Given the description of an element on the screen output the (x, y) to click on. 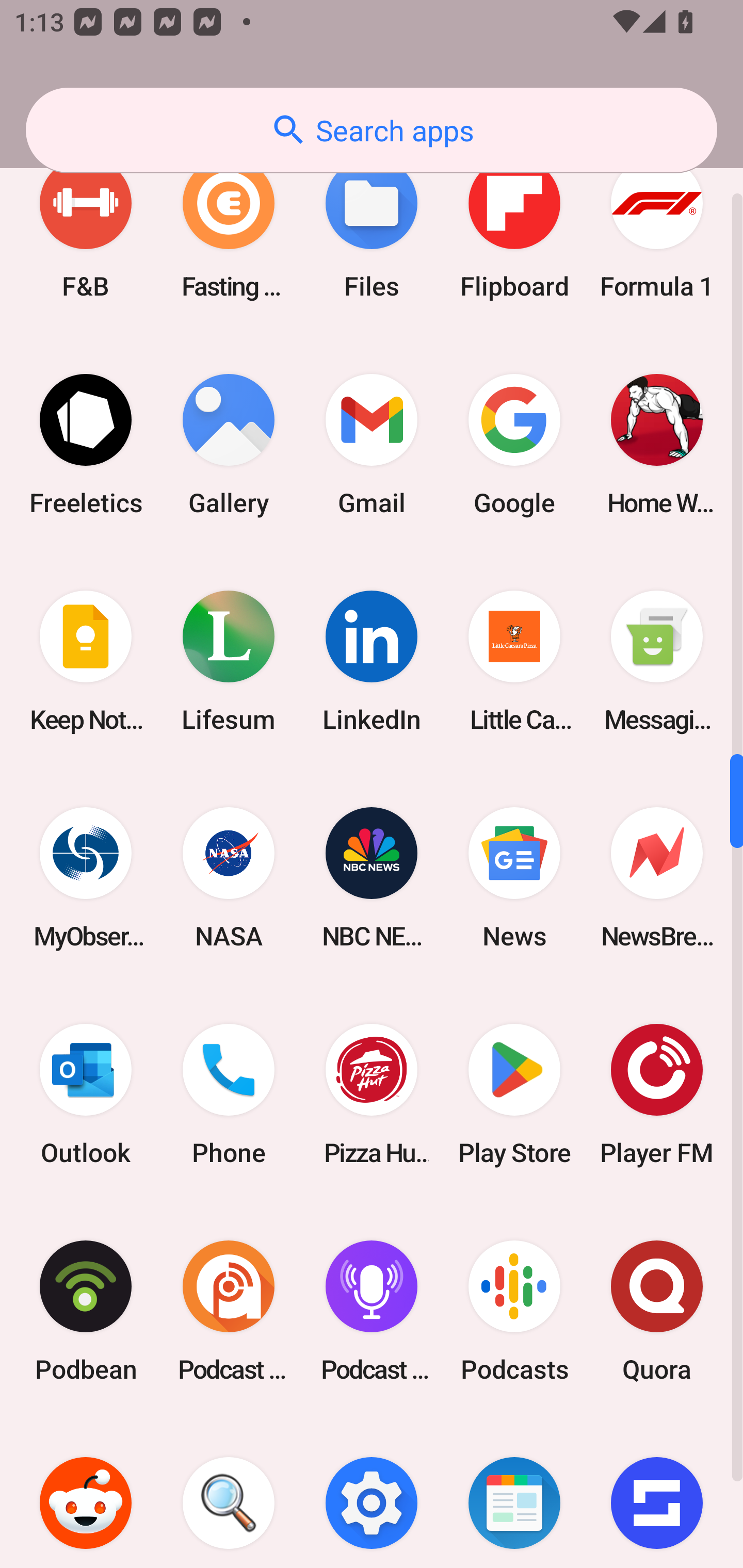
  Search apps (371, 130)
F&B (85, 227)
Fasting Coach (228, 227)
Files (371, 227)
Flipboard (514, 227)
Formula 1 (656, 227)
Freeletics (85, 444)
Gallery (228, 444)
Gmail (371, 444)
Google (514, 444)
Home Workout (656, 444)
Keep Notes (85, 661)
Lifesum (228, 661)
LinkedIn (371, 661)
Little Caesars Pizza (514, 661)
Messaging (656, 661)
MyObservatory (85, 877)
NASA (228, 877)
NBC NEWS (371, 877)
News (514, 877)
NewsBreak (656, 877)
Outlook (85, 1094)
Phone (228, 1094)
Pizza Hut HK & Macau (371, 1094)
Play Store (514, 1094)
Player FM (656, 1094)
Podbean (85, 1310)
Podcast Addict (228, 1310)
Podcast Player (371, 1310)
Podcasts (514, 1310)
Quora (656, 1310)
Reddit (85, 1493)
Search (228, 1493)
Settings (371, 1493)
SmartNews (514, 1493)
Sofascore (656, 1493)
